Given the description of an element on the screen output the (x, y) to click on. 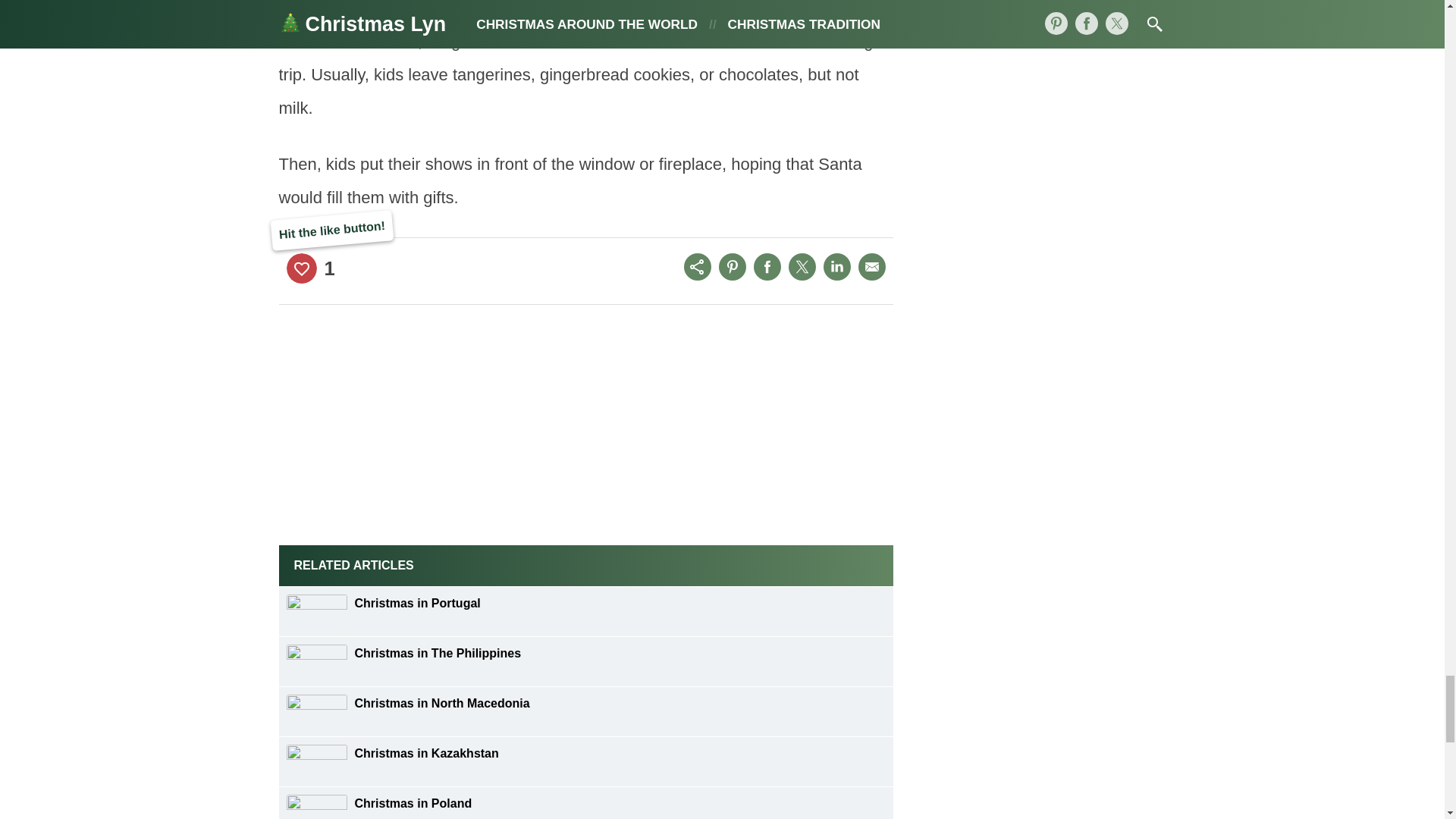
Copy Link (697, 266)
Share by Email (872, 266)
Share on Facebook (767, 266)
Share on LinkedIn (837, 266)
Recommend this! (301, 268)
Share on Twitter (802, 266)
Share on Pinterest (732, 266)
